Given the description of an element on the screen output the (x, y) to click on. 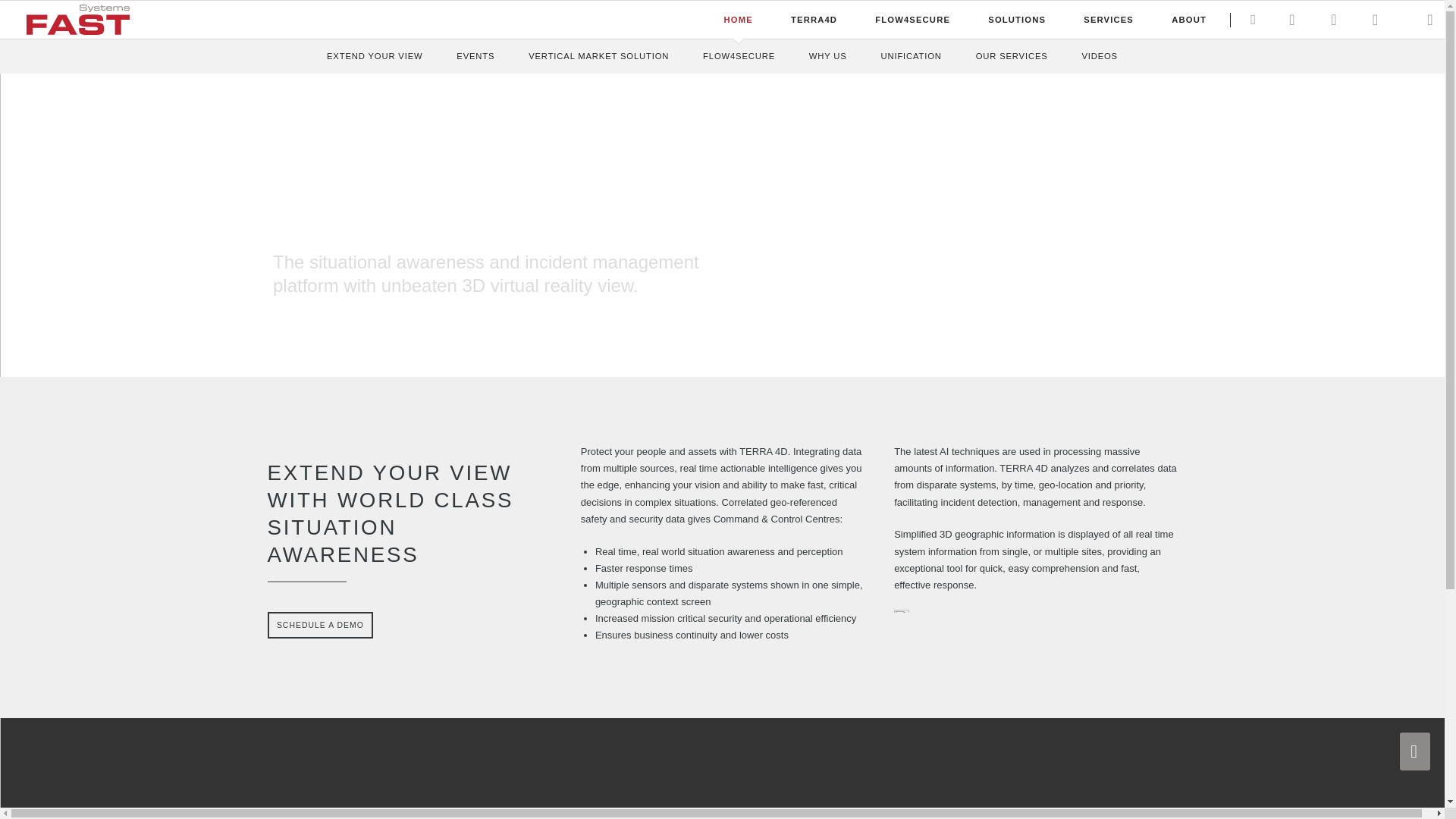
Services (1108, 18)
Search (1252, 19)
SOLUTIONS (1016, 18)
TERRA4D (813, 18)
Flow4Secure (912, 18)
About (1188, 18)
FLOW4SECURE (912, 18)
Terra4D (813, 18)
Solutions (1016, 18)
